Given the description of an element on the screen output the (x, y) to click on. 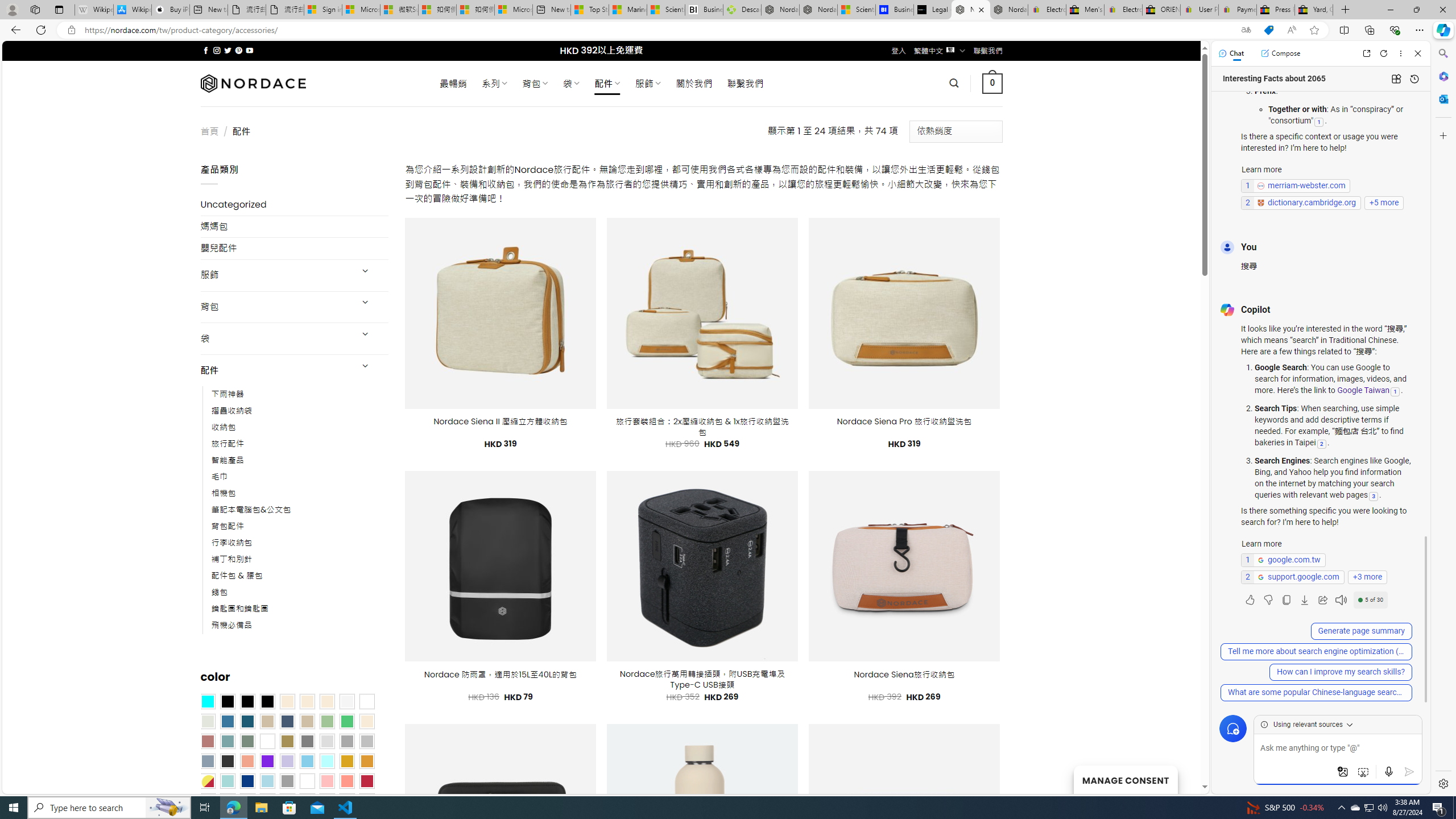
Follow on Pinterest (237, 50)
Nordace (252, 83)
Follow on Facebook (205, 50)
Compose (1280, 52)
